Given the description of an element on the screen output the (x, y) to click on. 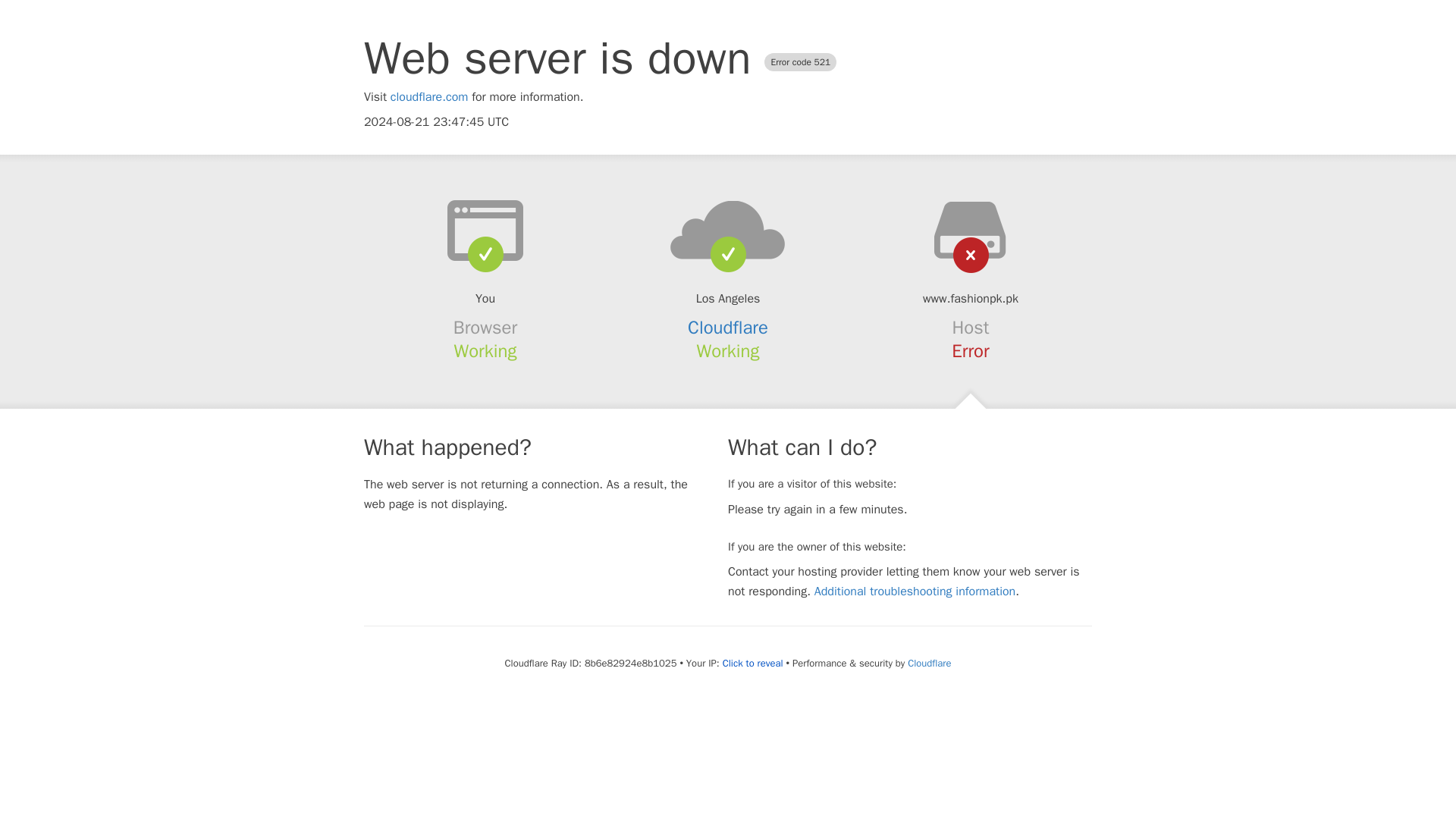
Click to reveal (752, 663)
Cloudflare (727, 327)
Additional troubleshooting information (913, 590)
Cloudflare (928, 662)
cloudflare.com (429, 96)
